Given the description of an element on the screen output the (x, y) to click on. 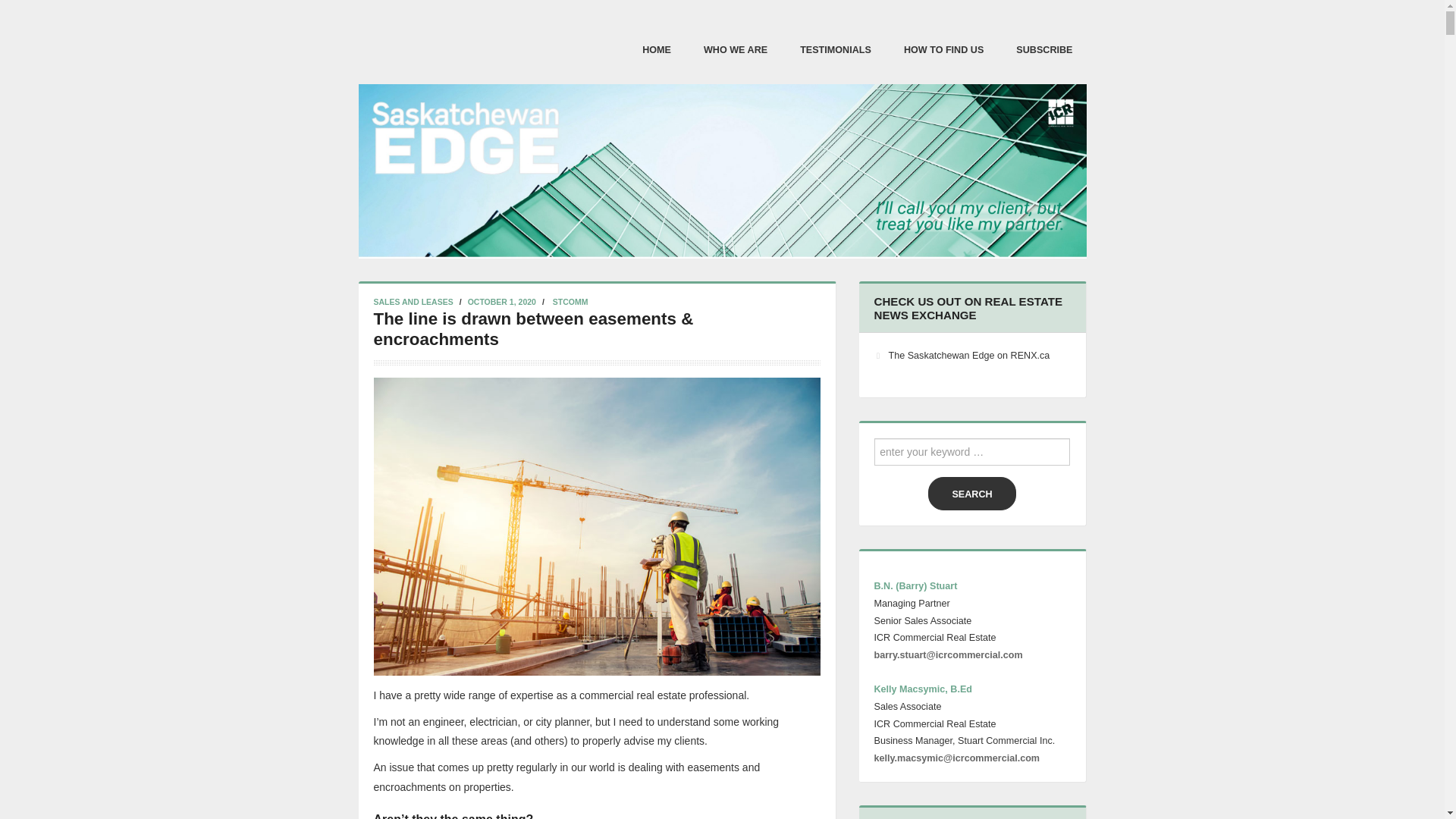
Search (971, 493)
HOME (656, 49)
Search for: (971, 452)
WHO WE ARE (735, 49)
STCOMM (570, 301)
TESTIMONIALS (835, 49)
SALES AND LEASES (412, 301)
5:29 pm (501, 301)
SUBSCRIBE (1044, 49)
The Saskatchewan Edge (722, 168)
OCTOBER 1, 2020 (501, 301)
Search (971, 493)
View all posts by stcomm (570, 301)
HOW TO FIND US (943, 49)
